Given the description of an element on the screen output the (x, y) to click on. 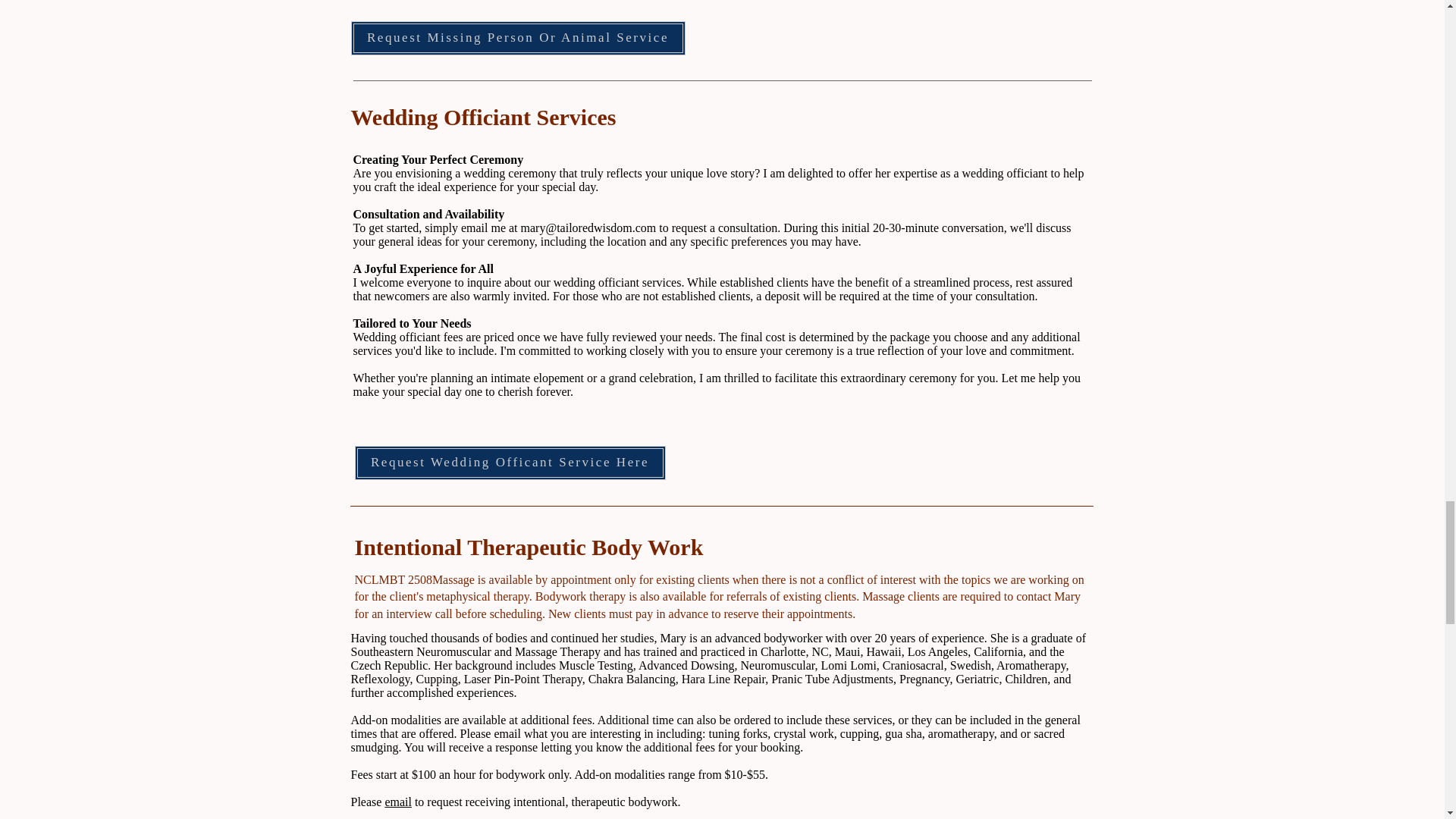
Request Wedding Officant Service Here (510, 462)
Request Missing Person Or Animal Service (517, 38)
email (398, 801)
